Given the description of an element on the screen output the (x, y) to click on. 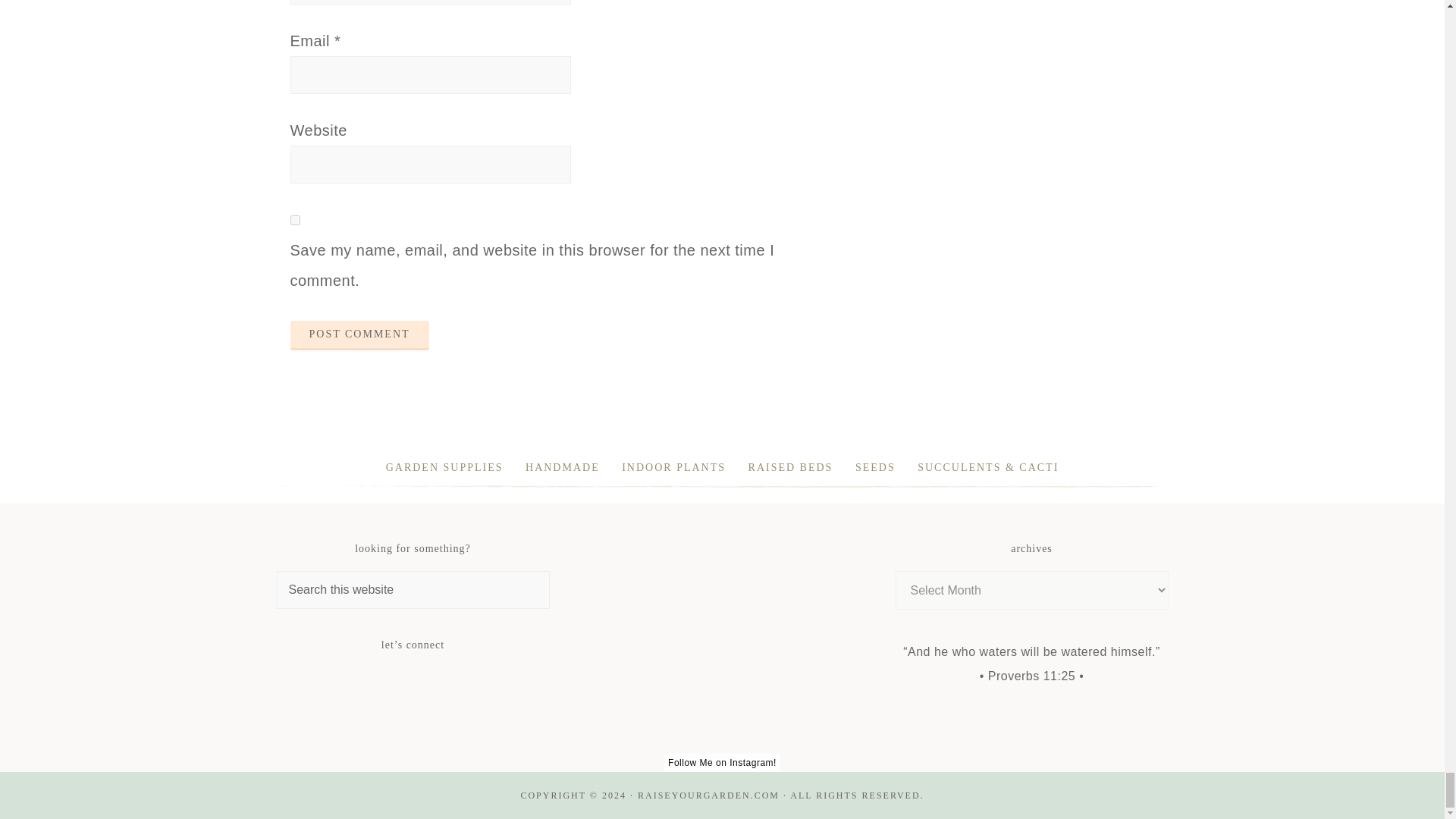
yes (294, 220)
Post Comment (358, 335)
